Given the description of an element on the screen output the (x, y) to click on. 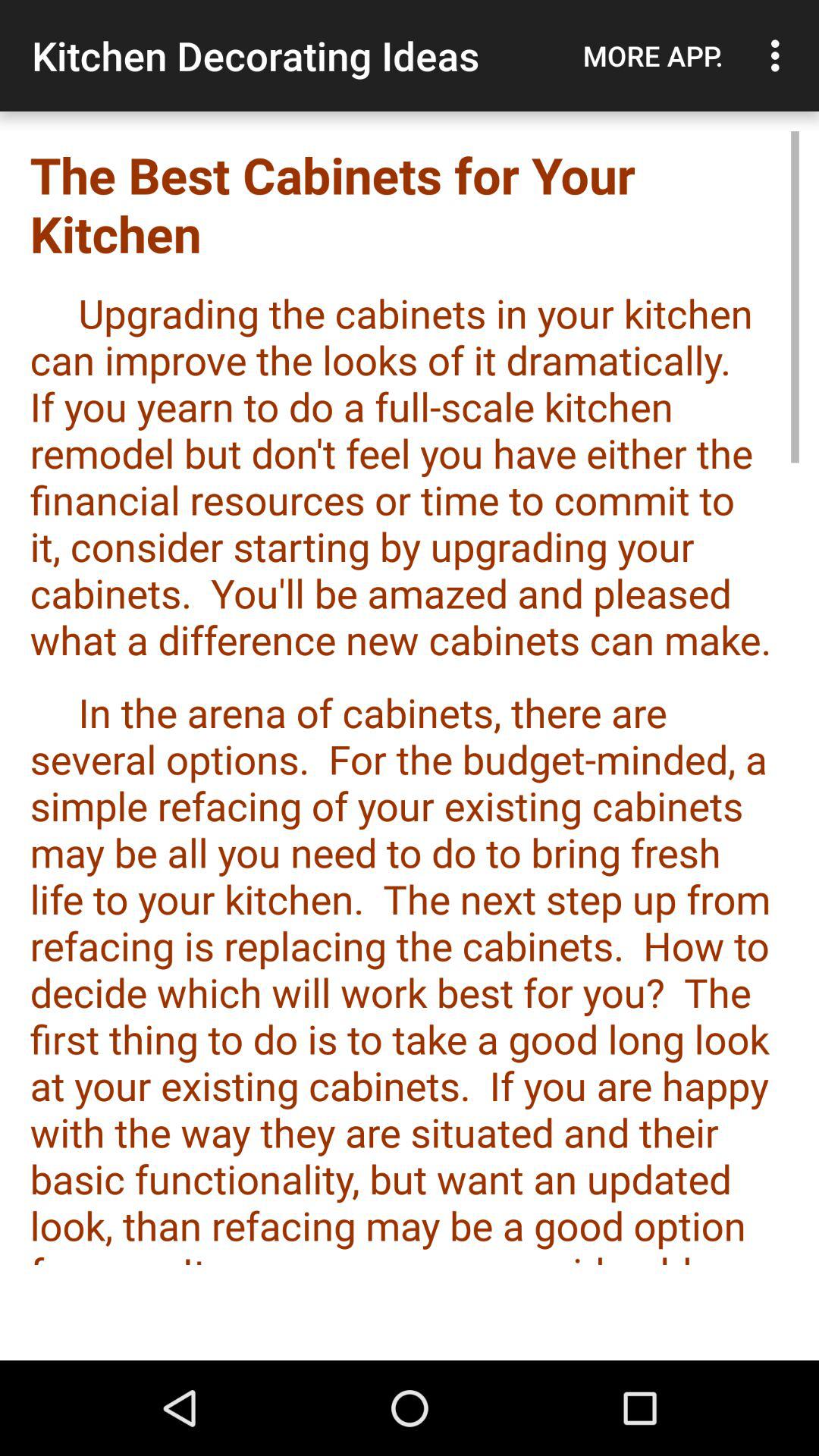
choose the more app. item (653, 55)
